Given the description of an element on the screen output the (x, y) to click on. 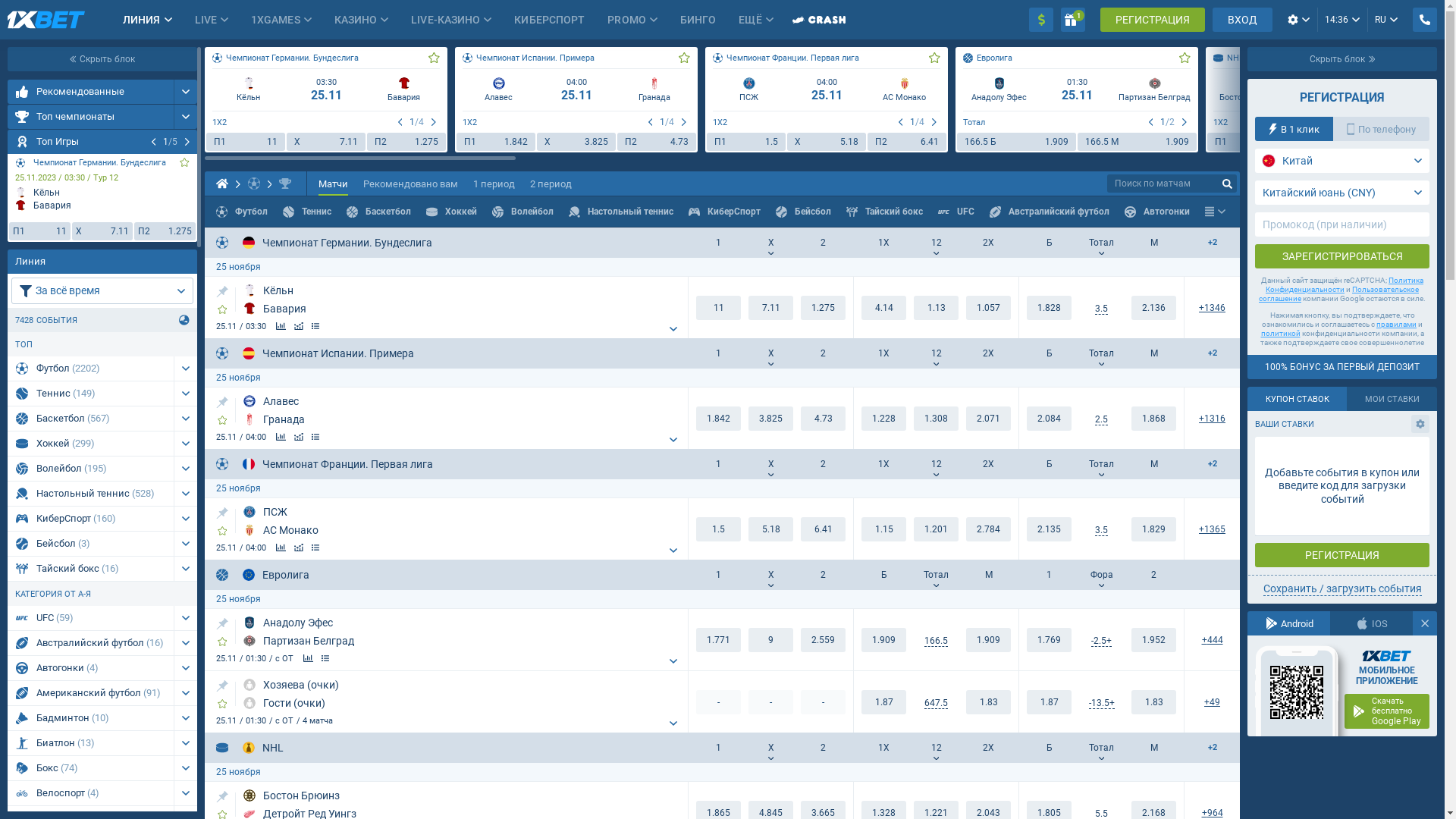
7.11 Element type: text (770, 307)
- Element type: text (770, 702)
X Element type: text (770, 242)
1XGAMES Element type: text (275, 19)
647.5 Element type: text (935, 703)
X
7.11 Element type: text (325, 141)
1.308 Element type: text (935, 418)
6.41 Element type: text (822, 529)
LIVE Element type: text (205, 19)
1.5 Element type: text (718, 529)
4.73 Element type: text (822, 418)
1.275 Element type: text (822, 307)
2.135 Element type: text (1048, 529)
- Element type: text (822, 702)
2.071 Element type: text (988, 418)
X Element type: text (770, 747)
2.784 Element type: text (988, 529)
1.057 Element type: text (988, 307)
1316 Element type: text (1211, 417)
UFC
59 Element type: text (90, 617)
1.87 Element type: text (883, 702)
+2 Element type: text (1211, 242)
1346 Element type: text (1211, 307)
2.084 Element type: text (1048, 418)
X
7.11 Element type: text (102, 231)
X
5.18 Element type: text (826, 141)
12 Element type: text (935, 353)
PROMO Element type: text (626, 19)
1.771 Element type: text (718, 639)
1.842 Element type: text (718, 418)
1 Element type: text (1072, 19)
NHL Element type: text (1317, 57)
1.909 Element type: text (988, 639)
12 Element type: text (935, 463)
1365 Element type: text (1211, 528)
- Element type: text (718, 702)
X Element type: text (770, 574)
3.5 Element type: text (1101, 530)
1.769 Element type: text (1048, 639)
NHL Element type: text (262, 747)
1.87 Element type: text (1048, 702)
12 Element type: text (935, 747)
1.868 Element type: text (1153, 418)
1.828 Element type: text (1048, 307)
11 Element type: text (718, 307)
9 Element type: text (770, 639)
1.952 Element type: text (1153, 639)
1.15 Element type: text (883, 529)
166.5 Element type: text (935, 640)
2.136 Element type: text (1153, 307)
1.228 Element type: text (883, 418)
14:35 Element type: text (1342, 19)
2.5 Element type: text (1101, 419)
-13.5+ Element type: text (1101, 703)
4.14 Element type: text (883, 307)
2.559 Element type: text (822, 639)
1.13 Element type: text (935, 307)
X Element type: text (770, 353)
1.83 Element type: text (988, 702)
X Element type: text (770, 463)
RU Element type: text (1386, 19)
3.825 Element type: text (770, 418)
5.18 Element type: text (770, 529)
3.5 Element type: text (1101, 308)
1.201 Element type: text (935, 529)
1.829 Element type: text (1153, 529)
+2 Element type: text (1211, 353)
49 Element type: text (1211, 701)
12 Element type: text (935, 242)
444 Element type: text (1211, 639)
1.909 Element type: text (883, 639)
X
3.825 Element type: text (575, 141)
+2 Element type: text (1211, 464)
+2 Element type: text (1211, 748)
-2.5+ Element type: text (1101, 640)
1.83 Element type: text (1153, 702)
